Given the description of an element on the screen output the (x, y) to click on. 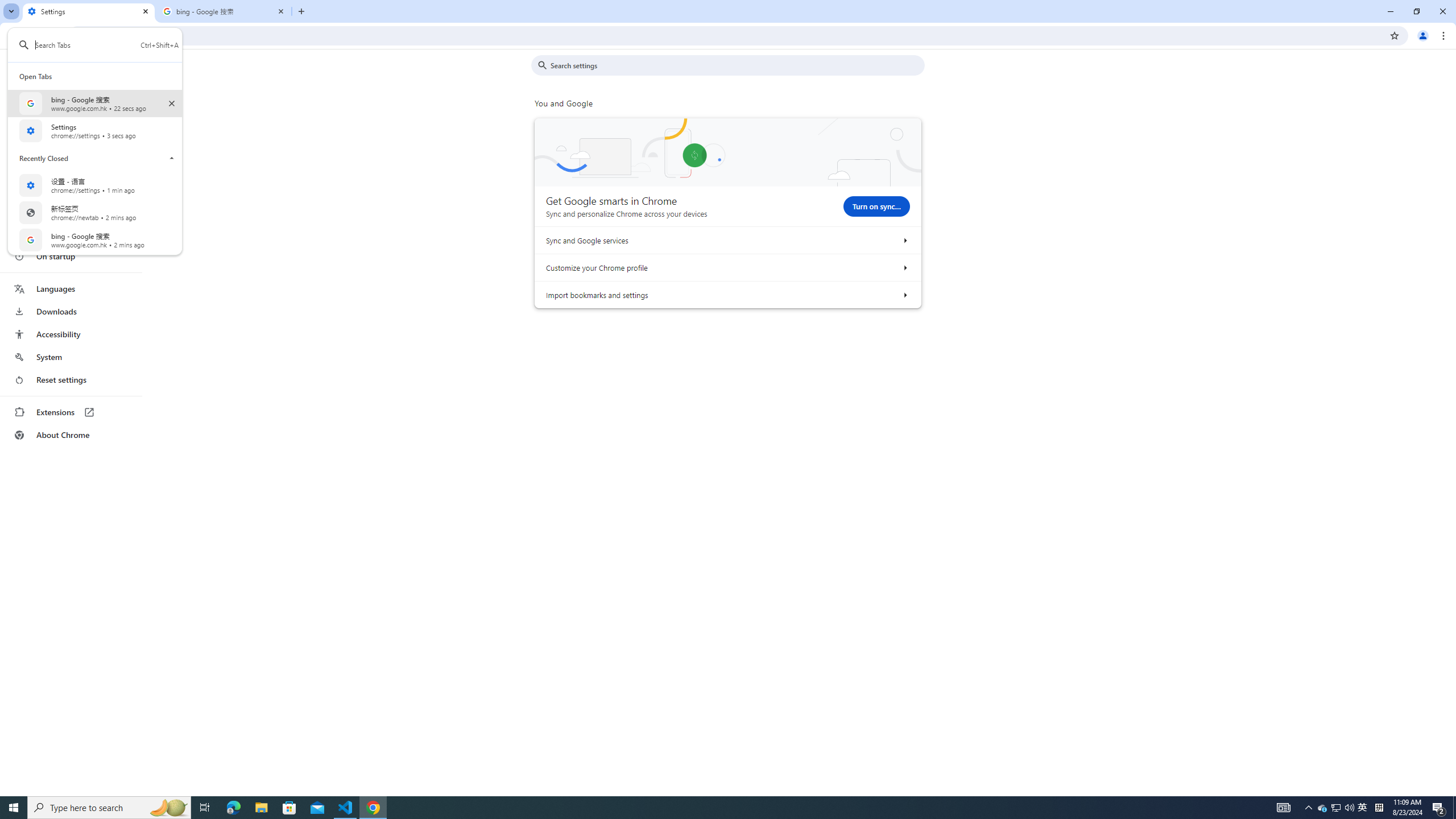
Q2790: 100% (1349, 807)
User Promoted Notification Area (1336, 807)
AutomationID: 4105 (1283, 807)
Microsoft Edge (233, 807)
Languages (70, 288)
Type here to search (1335, 807)
Downloads (108, 807)
File Explorer (70, 311)
Settings settings 3 secs ago Open Tab (261, 807)
Search Tabs Ctrl+Shift+A Found 5 Tabs (98, 130)
Tray Input Indicator - Chinese (Simplified, China) (106, 44)
